Given the description of an element on the screen output the (x, y) to click on. 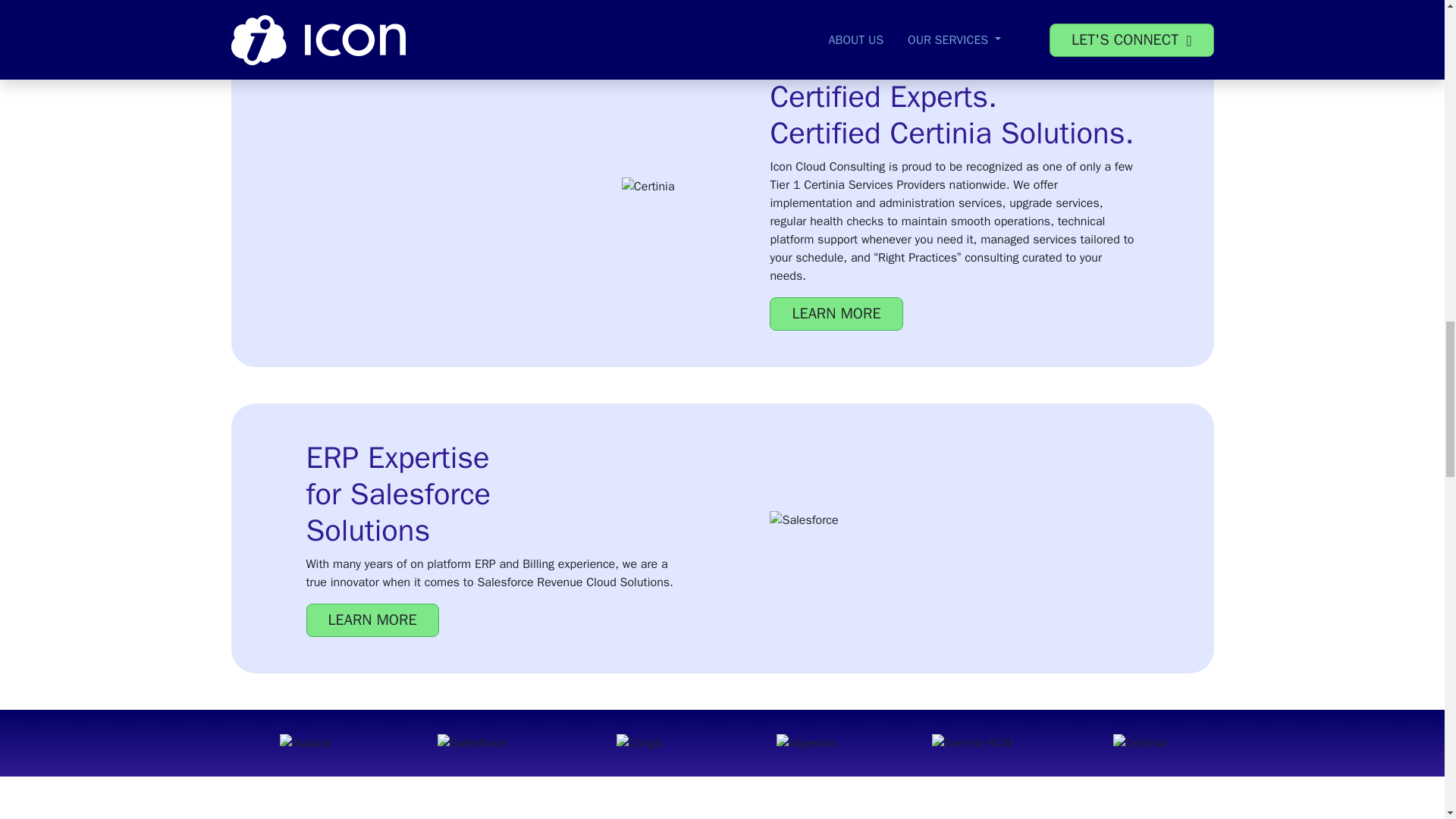
LEARN MORE (836, 313)
LEARN MORE (372, 620)
